Given the description of an element on the screen output the (x, y) to click on. 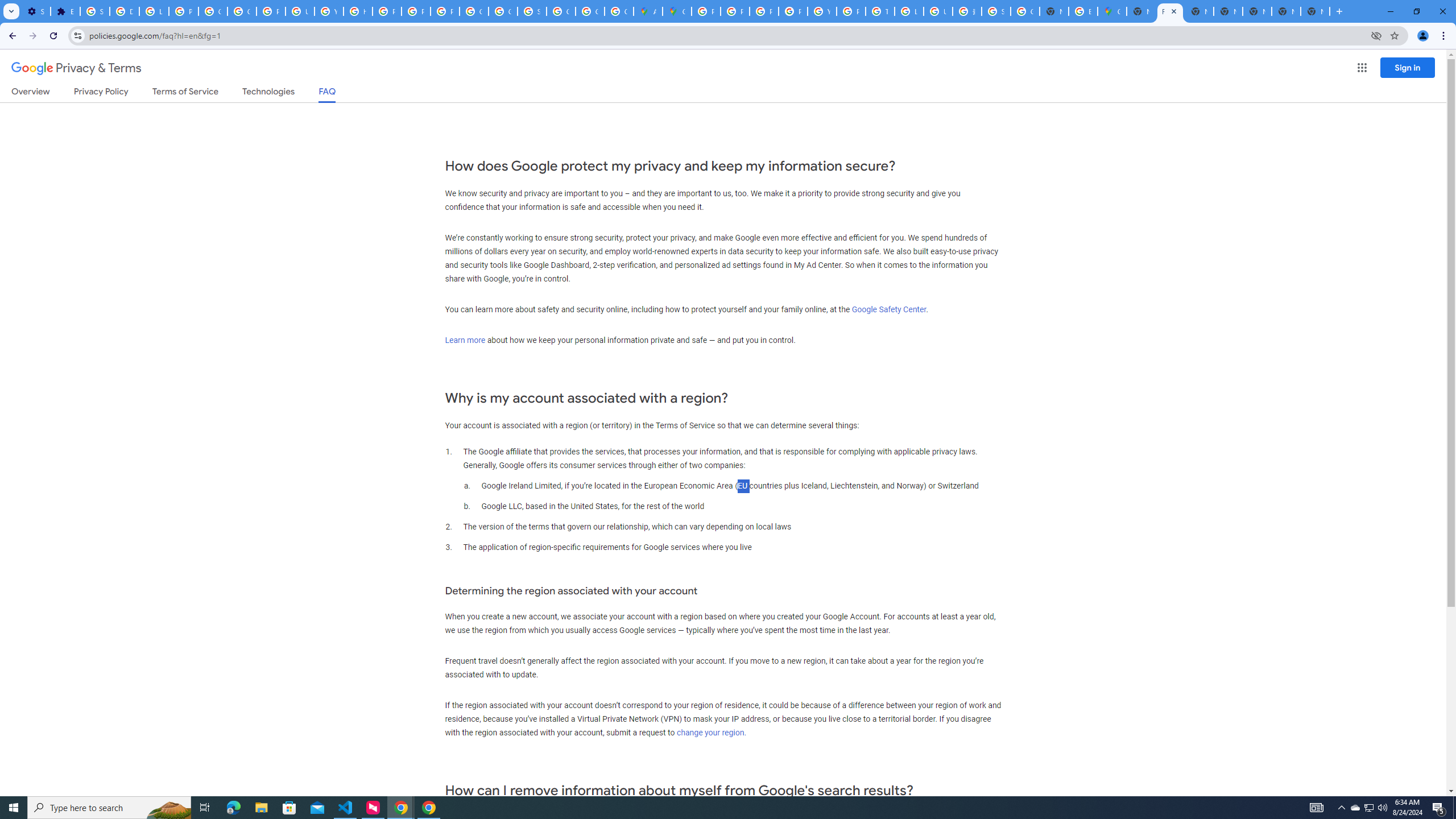
Learn more (465, 339)
Sign in - Google Accounts (531, 11)
Explore new street-level details - Google Maps Help (1082, 11)
change your region. (710, 732)
Privacy Help Center - Policies Help (734, 11)
Tips & tricks for Chrome - Google Chrome Help (879, 11)
New Tab (1315, 11)
